Given the description of an element on the screen output the (x, y) to click on. 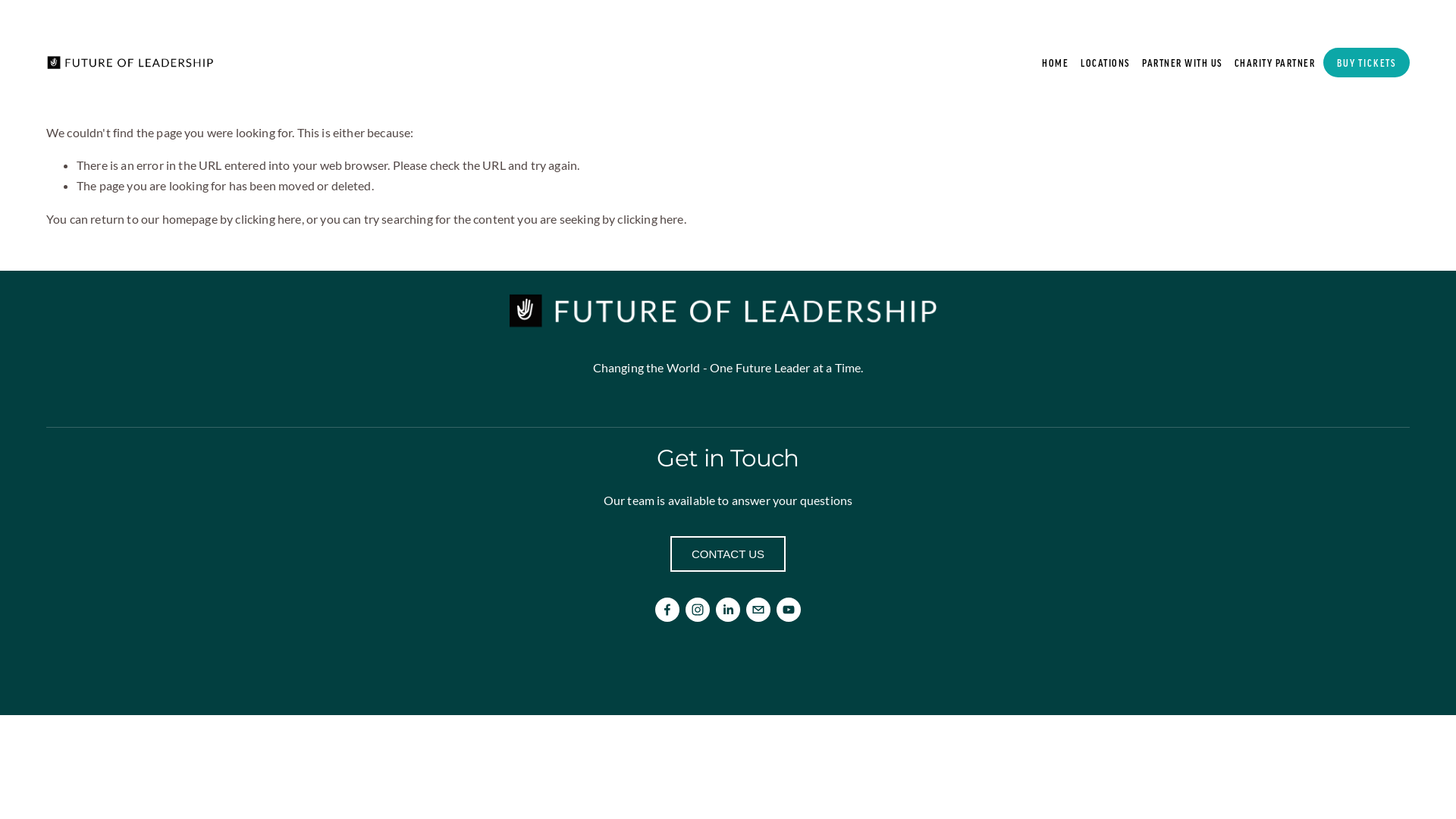
PARTNER WITH US Element type: text (1182, 62)
BUY TICKETS Element type: text (1366, 62)
HOME Element type: text (1054, 62)
CHARITY PARTNER Element type: text (1274, 62)
clicking here Element type: text (650, 218)
LOCATIONS Element type: text (1104, 62)
CONTACT US Element type: text (727, 553)
clicking here Element type: text (268, 218)
